Given the description of an element on the screen output the (x, y) to click on. 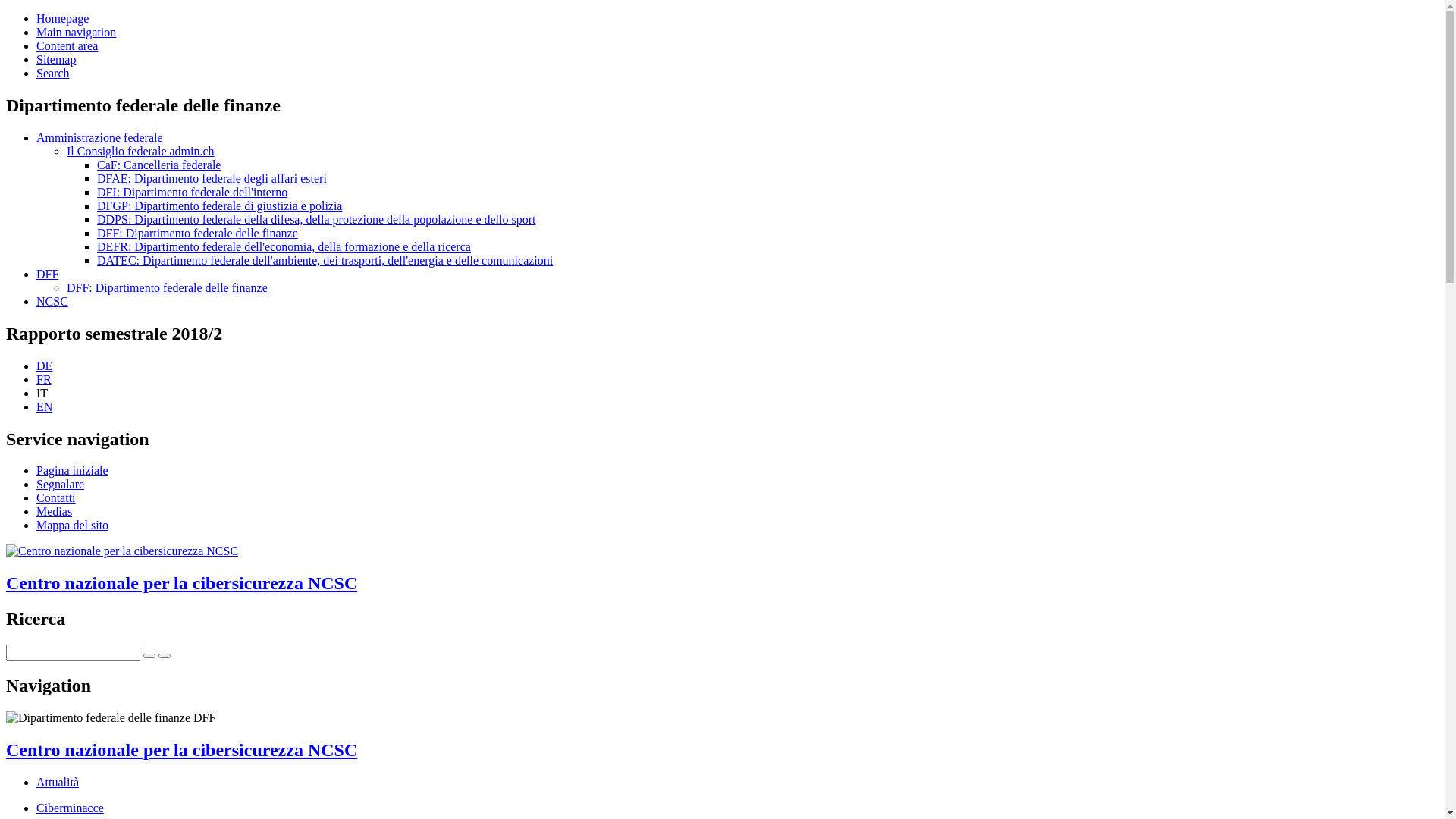
Segnalare Element type: text (60, 483)
NCSC Element type: text (52, 300)
Main navigation Element type: text (76, 31)
Ciberminacce Element type: text (69, 807)
Content area Element type: text (66, 45)
Amministrazione federale Element type: text (99, 137)
Sitemap Element type: text (55, 59)
DFF Element type: text (47, 273)
DFGP: Dipartimento federale di giustizia e polizia Element type: text (219, 205)
Mappa del sito Element type: text (72, 524)
Il Consiglio federale admin.ch Element type: text (140, 150)
CaF: Cancelleria federale Element type: text (158, 164)
Medias Element type: text (54, 511)
IT Element type: text (41, 392)
DFF: Dipartimento federale delle finanze Element type: text (197, 232)
FR Element type: text (43, 379)
Search Element type: text (52, 72)
Centro nazionale per la cibersicurezza NCSC Element type: text (722, 568)
DFI: Dipartimento federale dell'interno Element type: text (192, 191)
Contatti Element type: text (55, 497)
DFF: Dipartimento federale delle finanze Element type: text (166, 287)
Centro nazionale per la cibersicurezza NCSC Element type: text (181, 749)
Pagina iniziale Element type: text (72, 470)
DFAE: Dipartimento federale degli affari esteri Element type: text (211, 178)
Homepage Element type: text (62, 18)
EN Element type: text (44, 406)
DE Element type: text (44, 365)
